Given the description of an element on the screen output the (x, y) to click on. 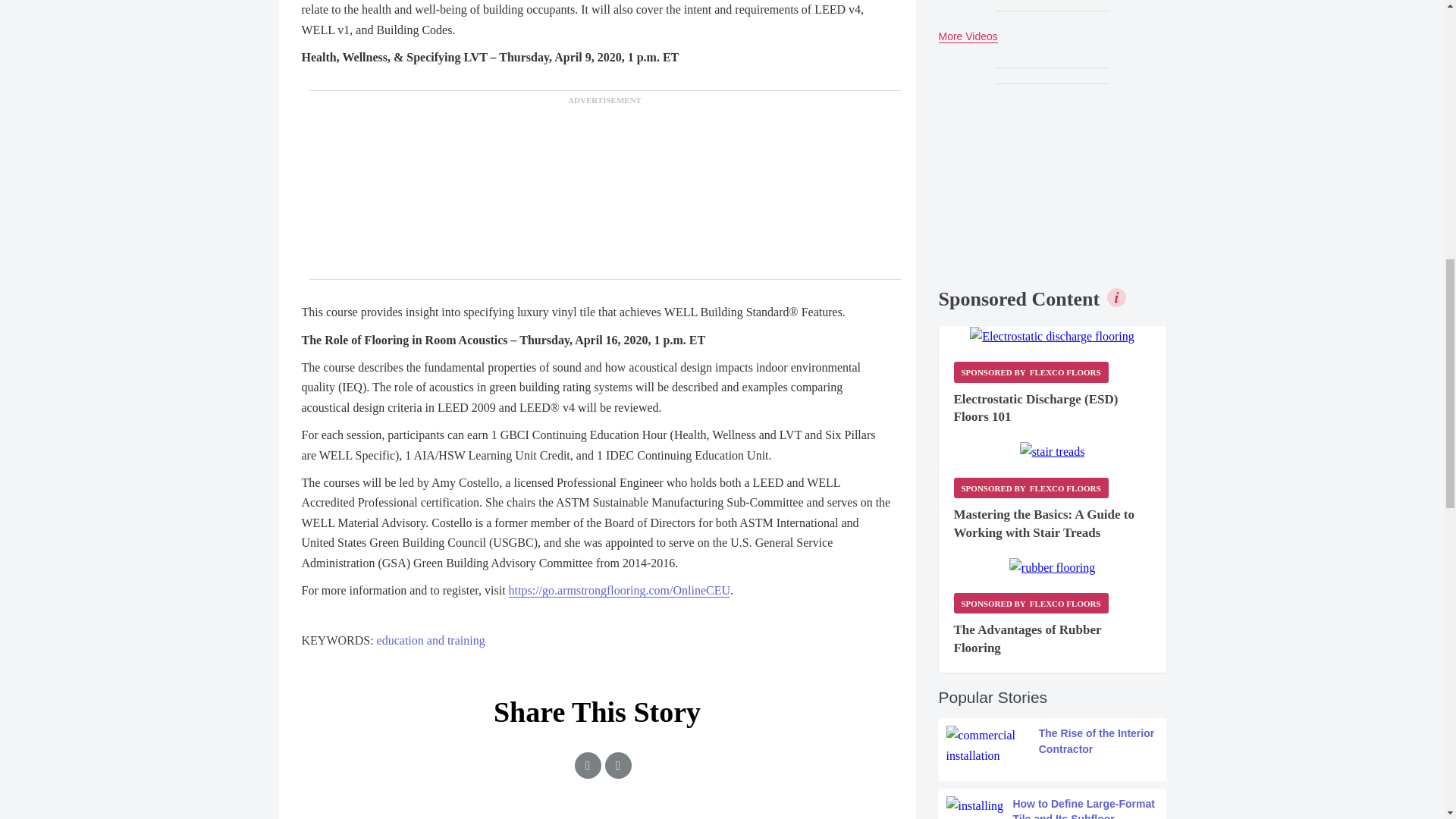
The Rise of the Interior Contractor (1052, 745)
Sponsored by Flexco Floors (1030, 602)
ESD flooring (1051, 336)
Sponsored by Flexco Floors (1030, 487)
rubber flooring (1051, 567)
stair treads (1052, 451)
Sponsored by Flexco Floors (1030, 371)
